Given the description of an element on the screen output the (x, y) to click on. 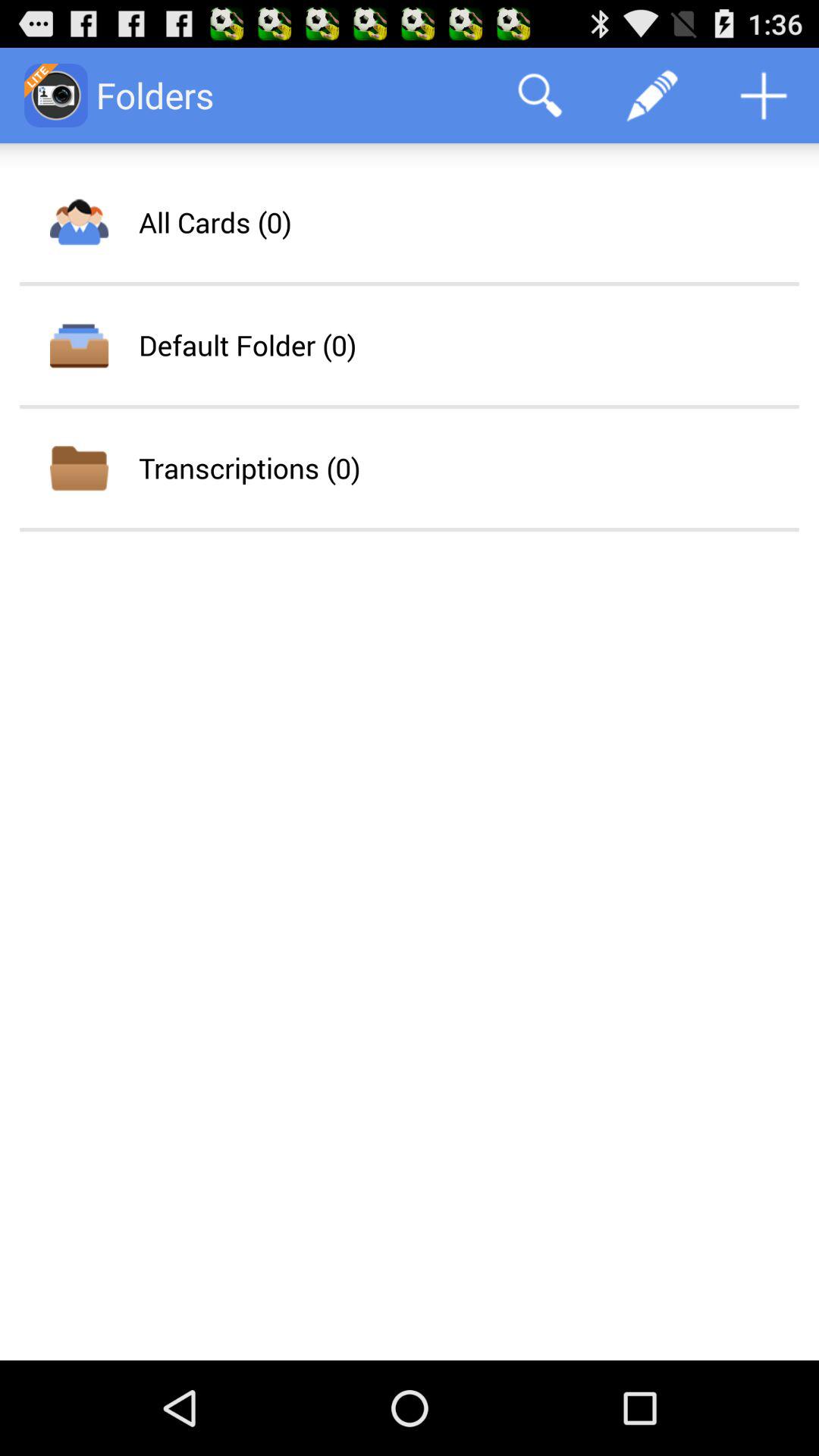
click the icon above default folder (0) app (214, 222)
